Given the description of an element on the screen output the (x, y) to click on. 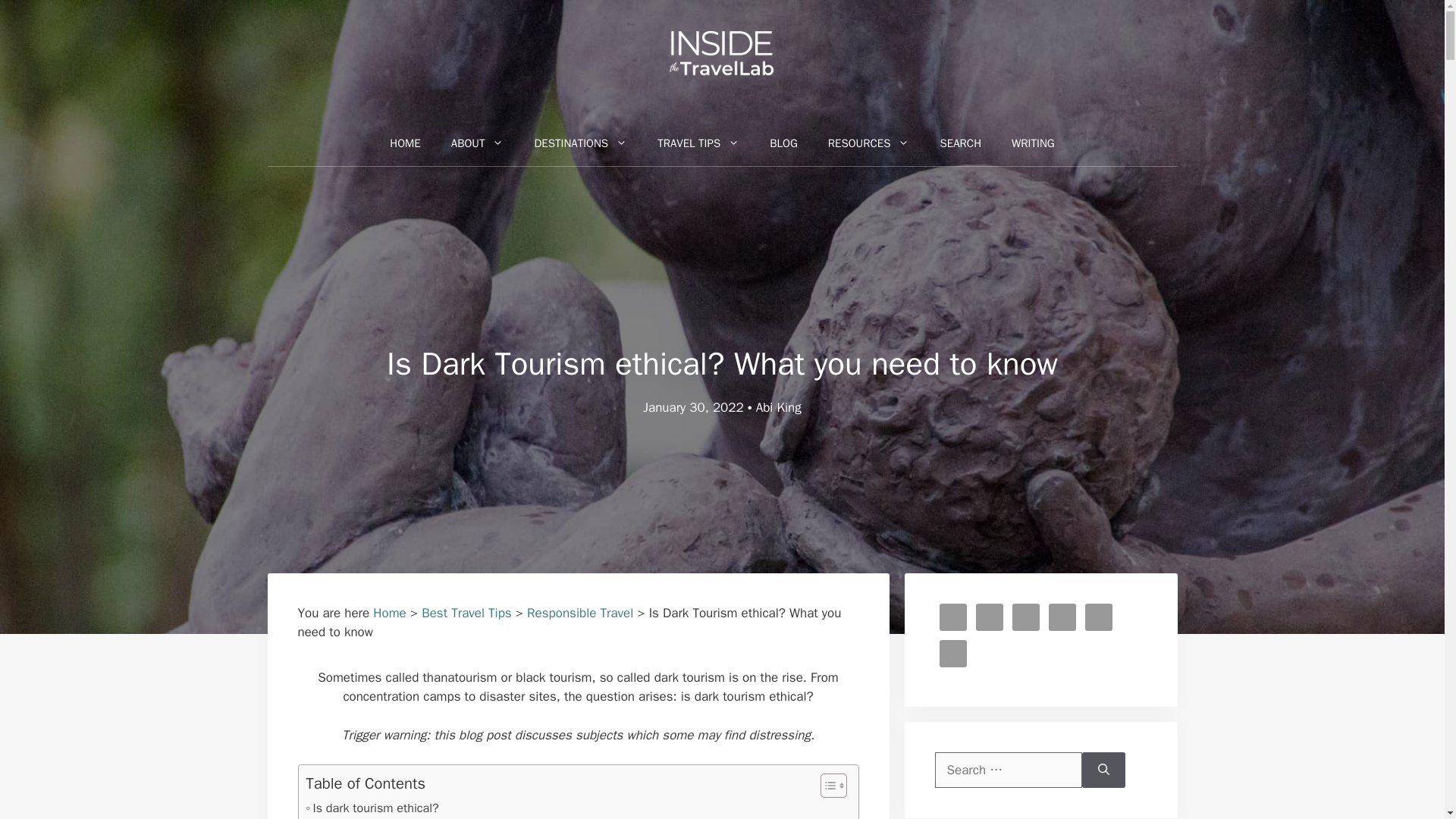
HOME (404, 143)
DESTINATIONS (580, 143)
Is dark tourism ethical? (372, 808)
TRAVEL TIPS (698, 143)
ABOUT (477, 143)
